Given the description of an element on the screen output the (x, y) to click on. 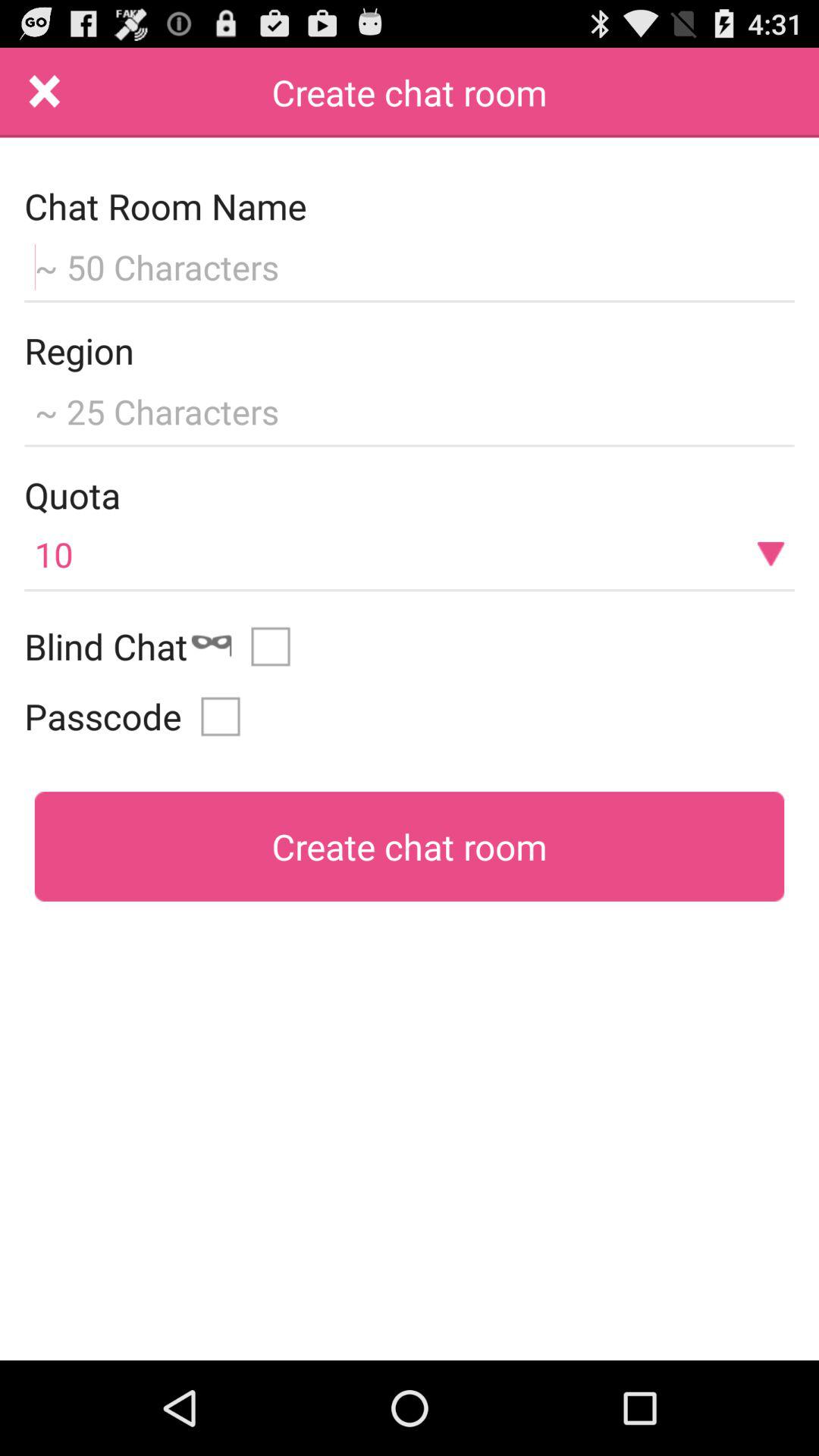
click select option (276, 646)
